Given the description of an element on the screen output the (x, y) to click on. 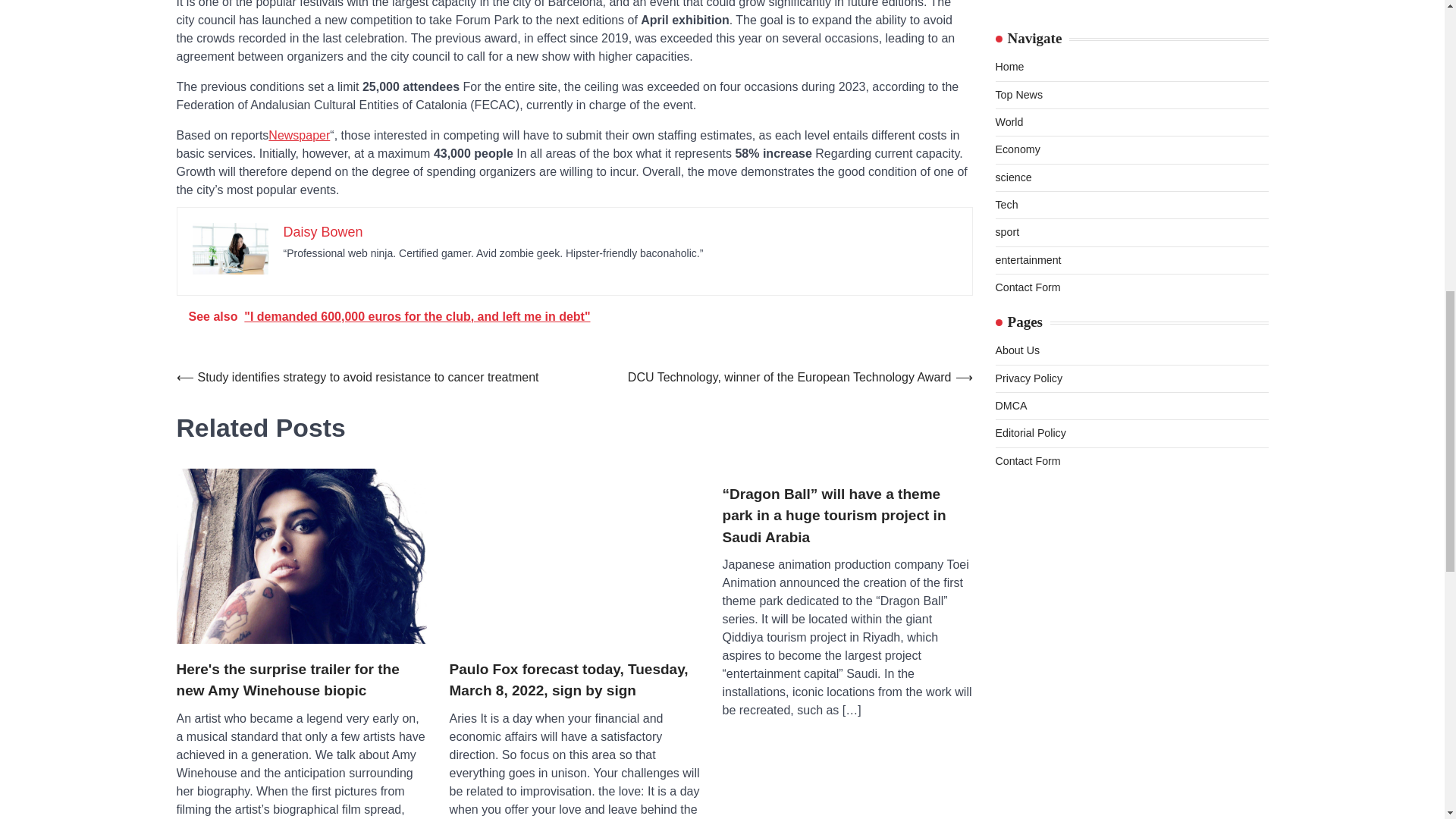
Daisy Bowen (322, 231)
Newspaper (298, 134)
Here's the surprise trailer for the new Amy Winehouse biopic (301, 680)
Here's the surprise trailer for the new Amy Winehouse biopic (301, 555)
